Given the description of an element on the screen output the (x, y) to click on. 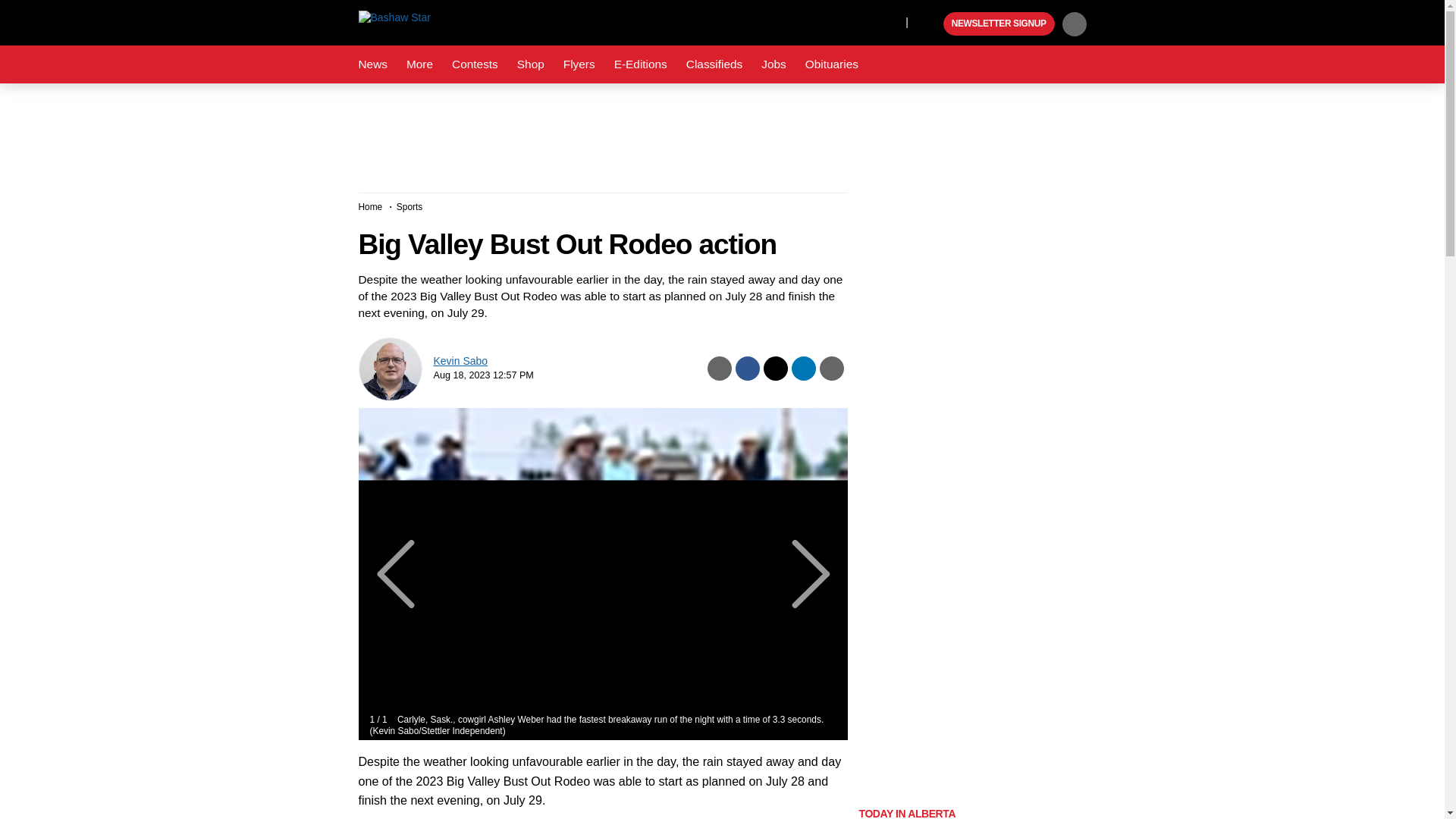
NEWSLETTER SIGNUP (998, 24)
X (889, 21)
Play (929, 24)
News (372, 64)
Black Press Media (929, 24)
